Given the description of an element on the screen output the (x, y) to click on. 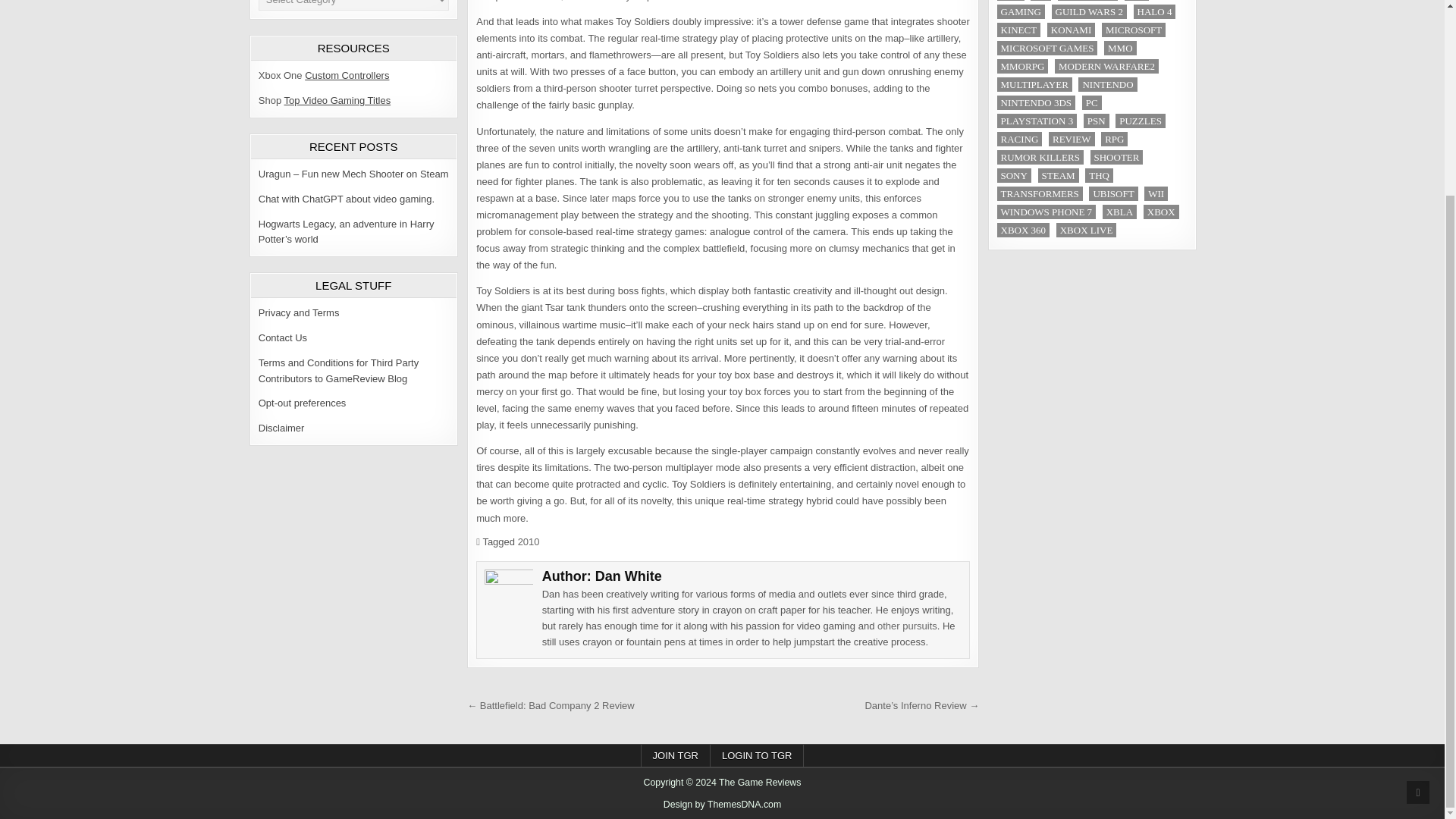
Privacy and Terms (299, 312)
Chat with ChatGPT about video gaming. (346, 198)
2010 (529, 541)
Custom Controllers (346, 75)
other pursuits (907, 625)
Scroll to Top (1417, 545)
Scroll to Top (1417, 545)
Top Video Gaming Titles (336, 100)
